Given the description of an element on the screen output the (x, y) to click on. 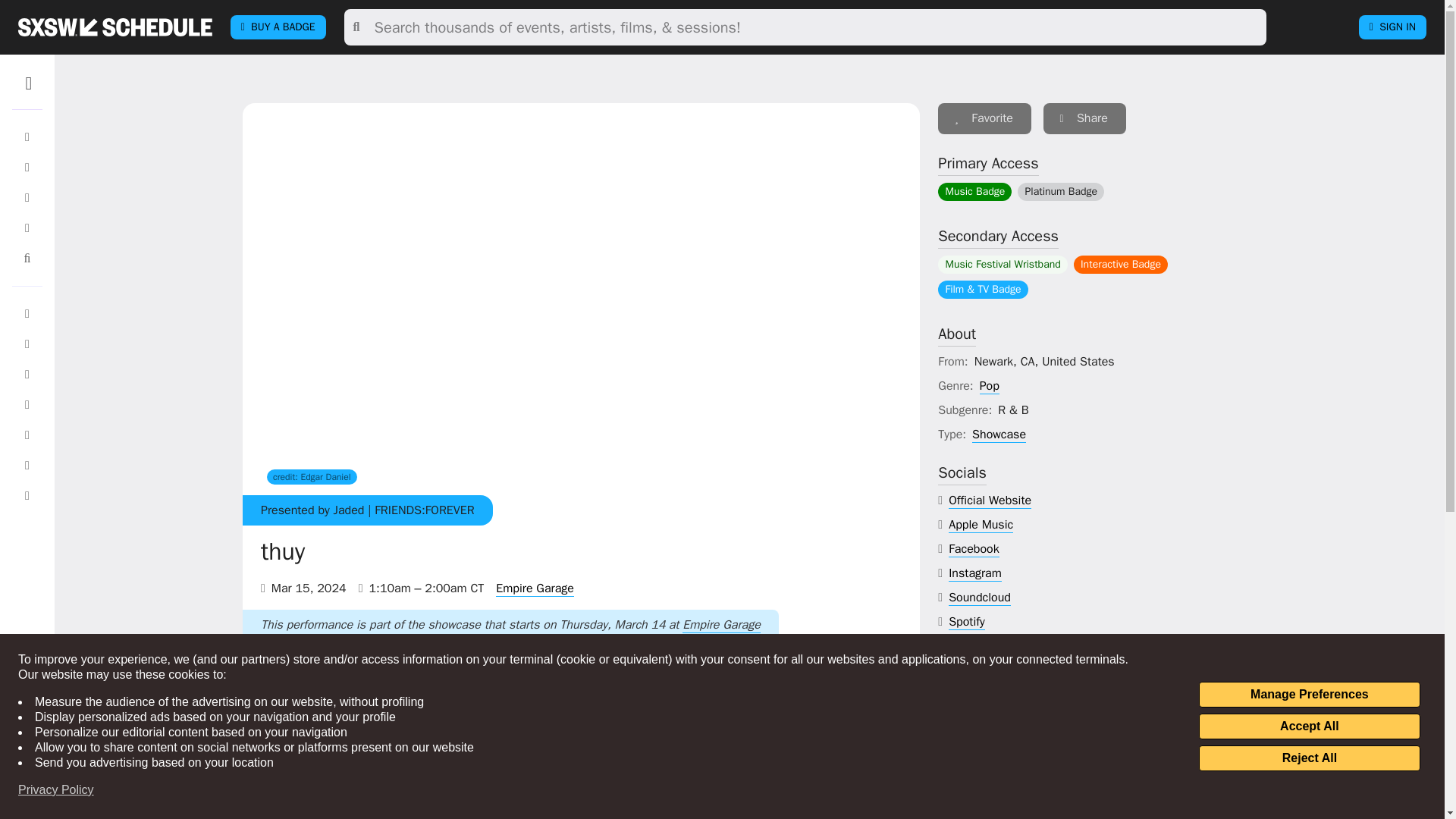
Empire Garage (721, 625)
Accept All (1309, 726)
Manage Preferences (1309, 694)
BUY A BADGE (278, 27)
instagram (975, 573)
Sign In to add to your favorites. (983, 118)
apple (981, 524)
Privacy Policy (55, 789)
SIGN IN (1392, 27)
Empire Garage (534, 588)
